Given the description of an element on the screen output the (x, y) to click on. 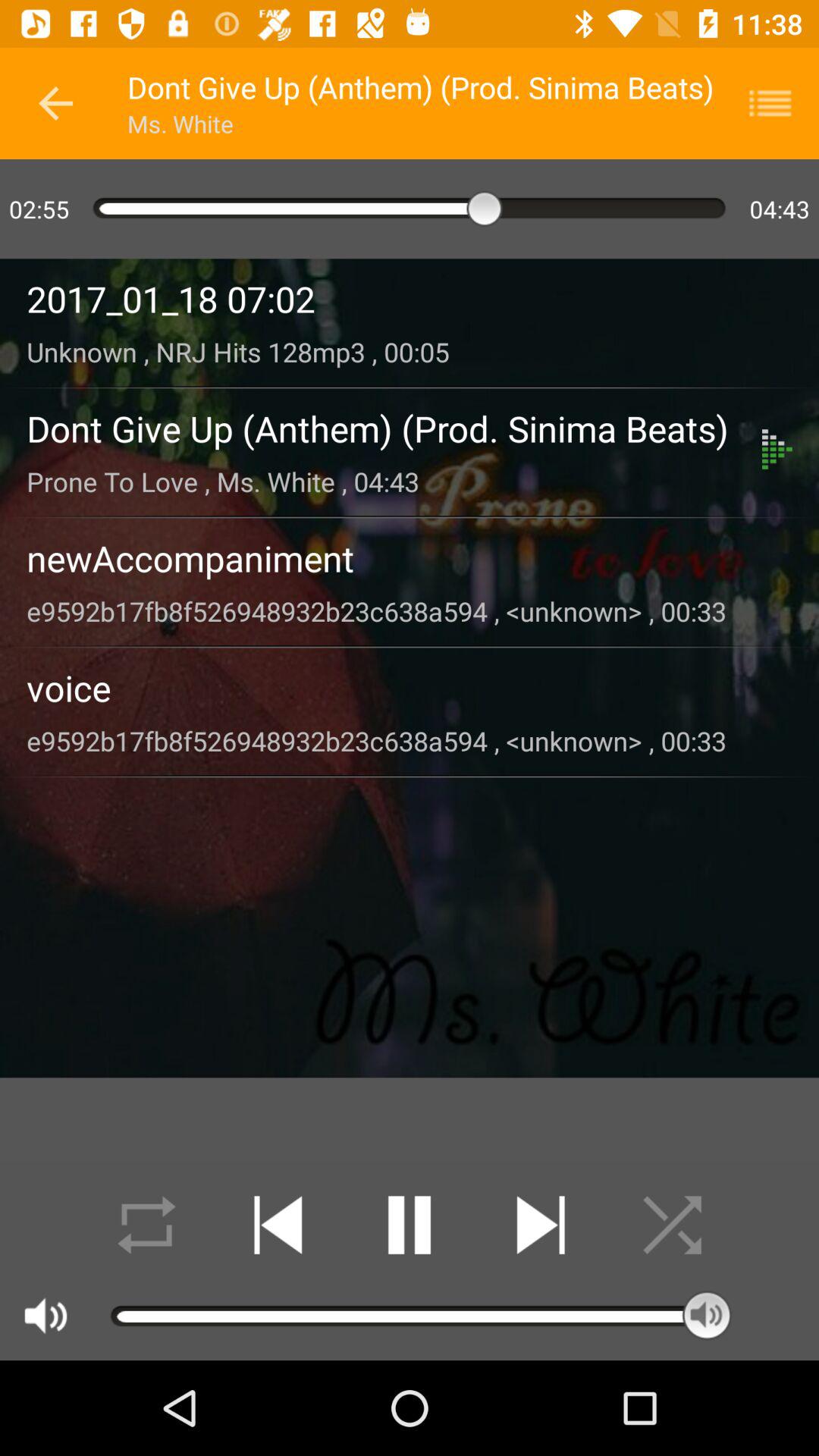
click on the icon on right side of the forward button (672, 1225)
